Given the description of an element on the screen output the (x, y) to click on. 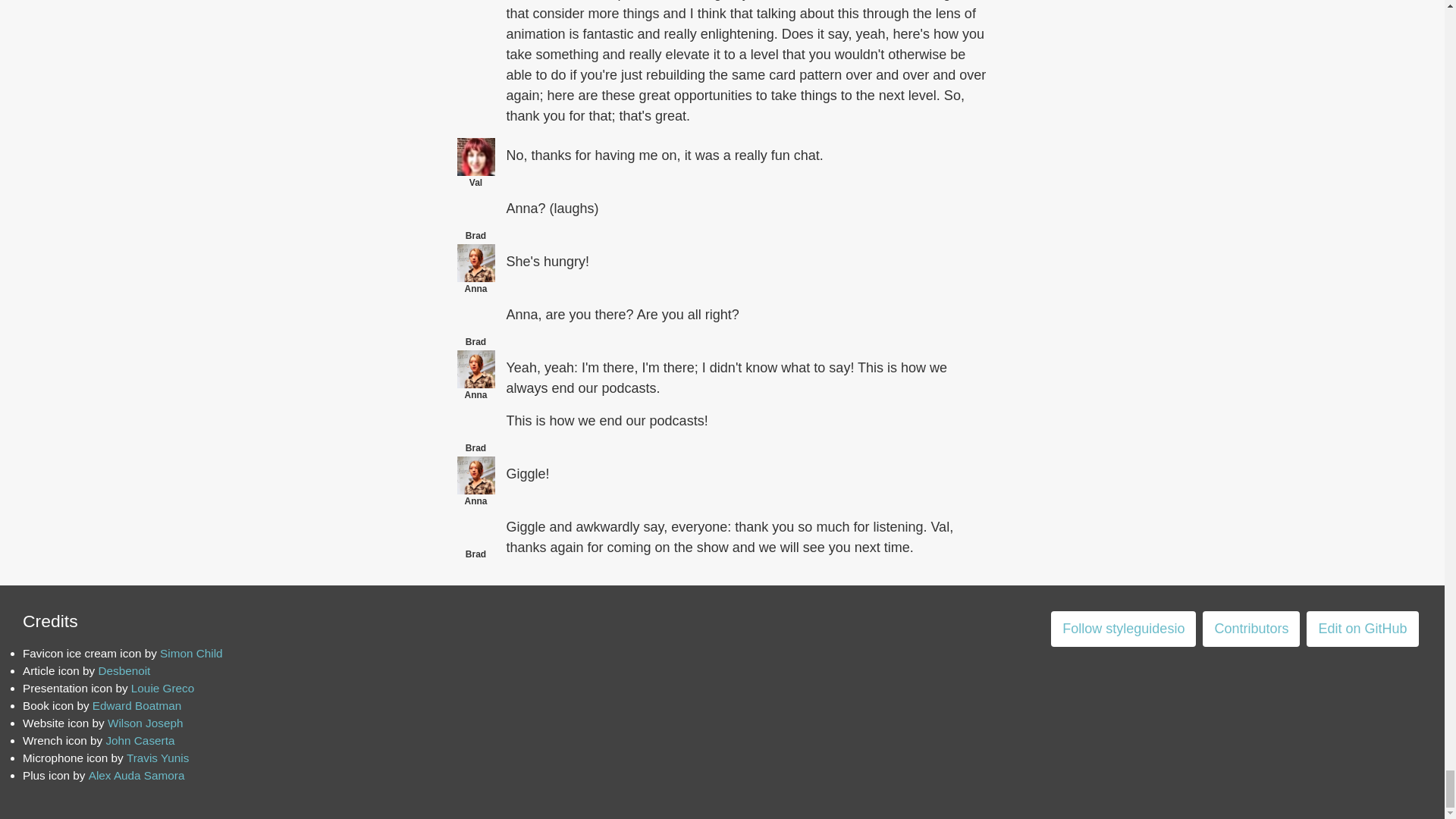
Travis Yunis (157, 757)
Desbenoit (123, 670)
Edward Boatman (136, 705)
Wilson Joseph (145, 722)
Alex Auda Samora (136, 775)
Simon Child (191, 653)
Follow styleguidesio (1123, 628)
Edit on GitHub (1362, 628)
John Caserta (139, 739)
Contributors (1251, 628)
